Given the description of an element on the screen output the (x, y) to click on. 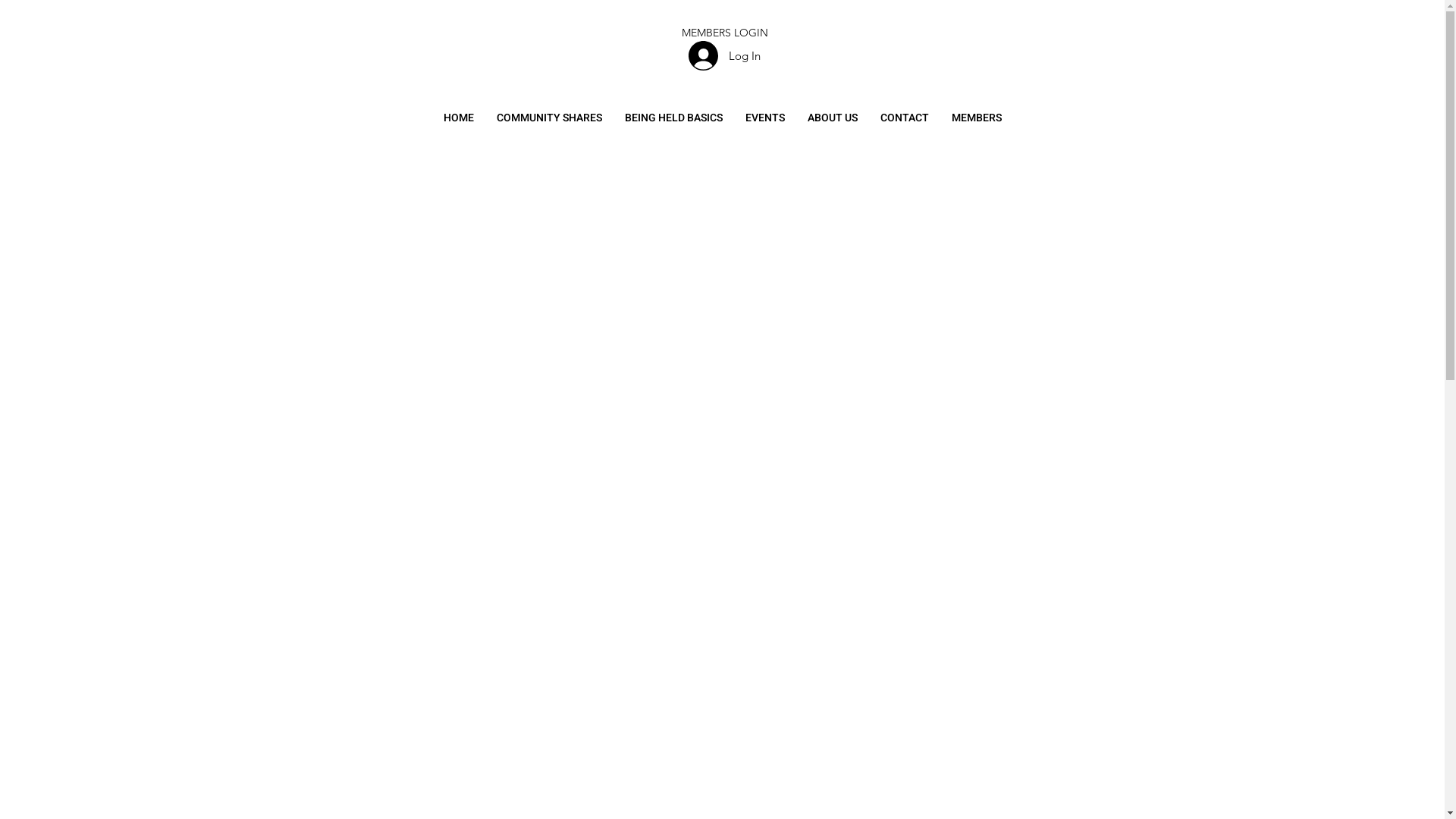
CONTACT Element type: text (904, 118)
ABOUT US Element type: text (832, 118)
BEING HELD BASICS Element type: text (672, 118)
MEMBERS Element type: text (976, 118)
Log In Element type: text (724, 55)
COMMUNITY SHARES Element type: text (549, 118)
HOME Element type: text (458, 118)
EVENTS Element type: text (765, 118)
